Given the description of an element on the screen output the (x, y) to click on. 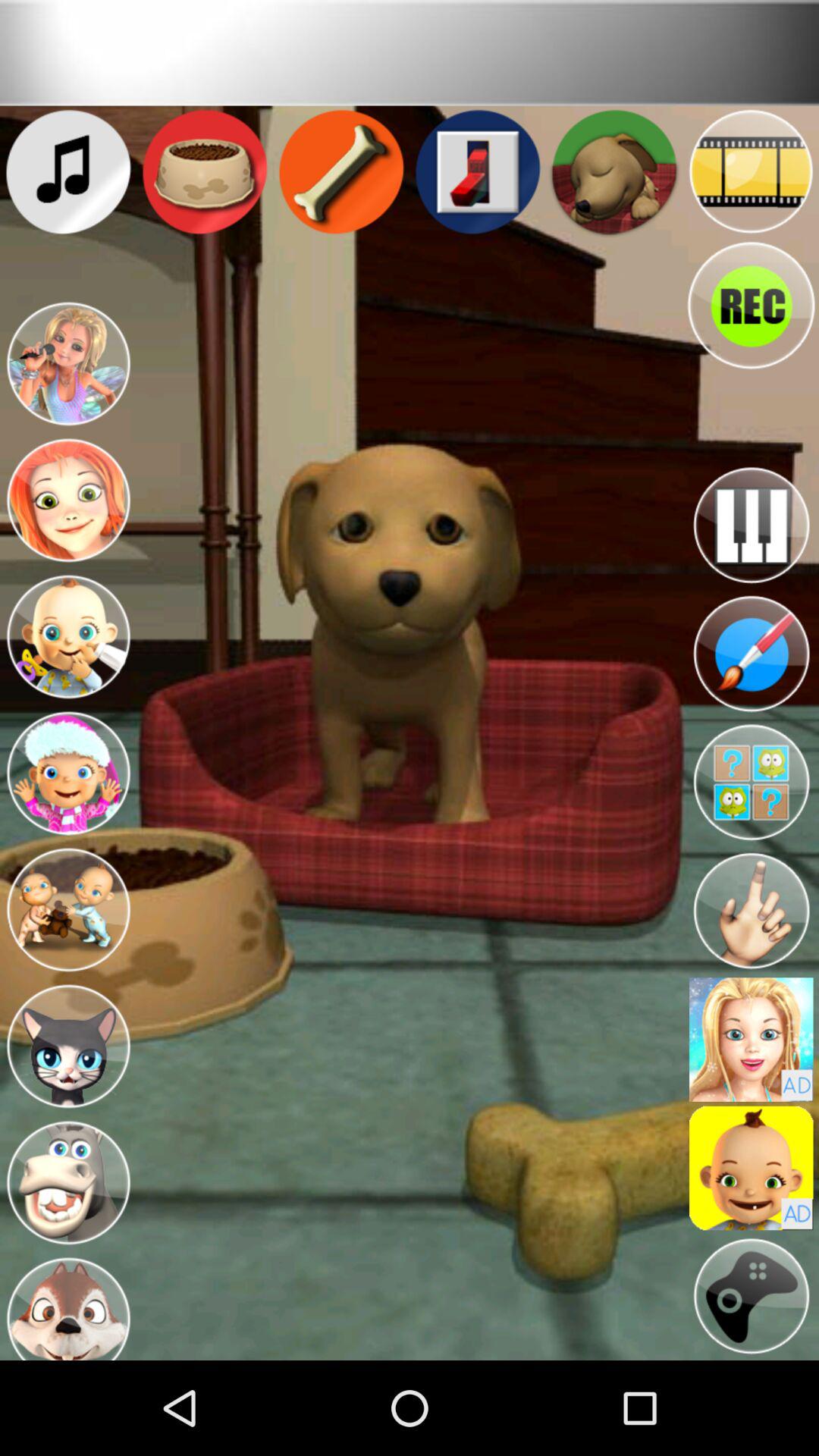
play music (751, 525)
